Given the description of an element on the screen output the (x, y) to click on. 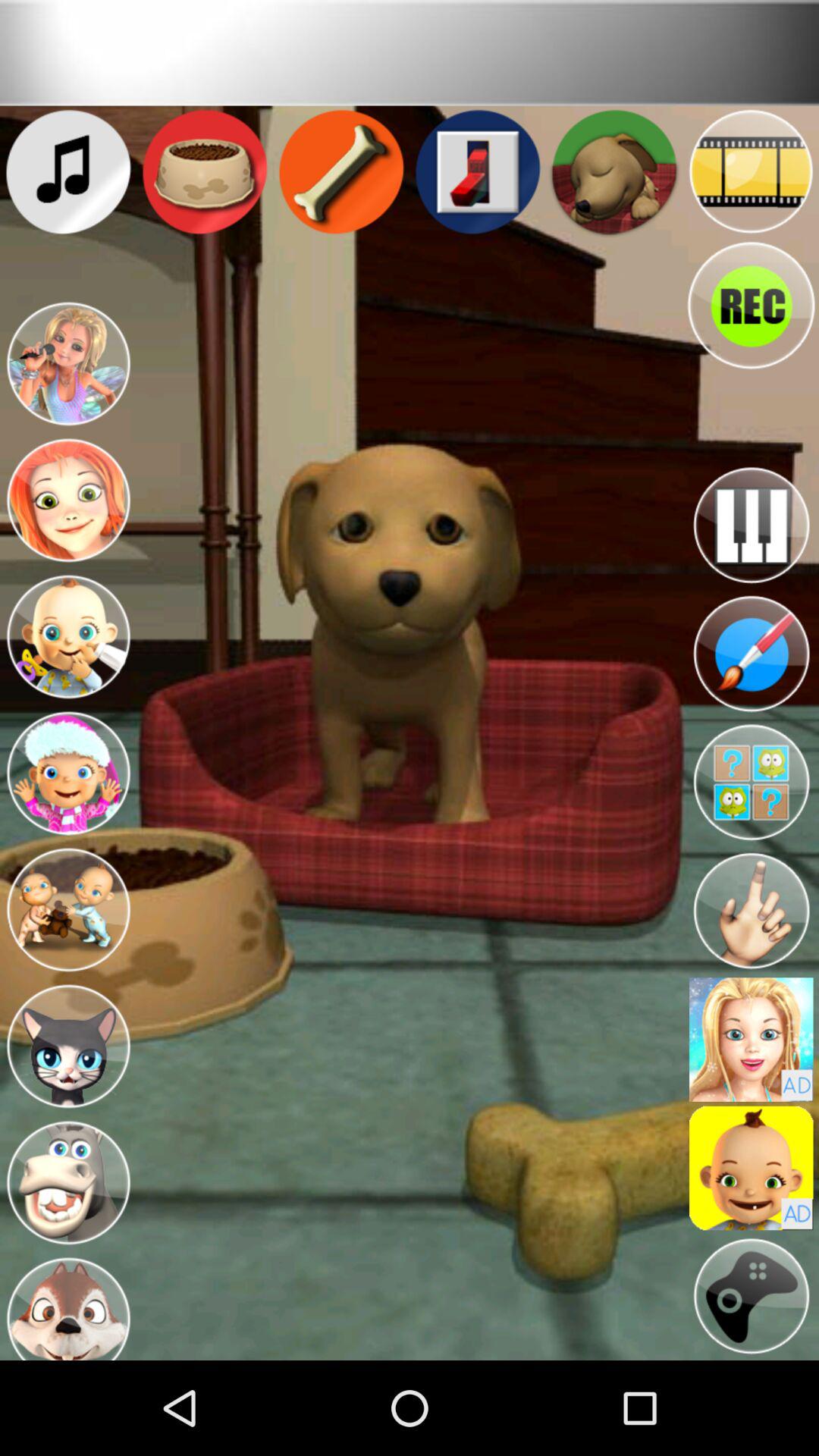
play music (751, 525)
